Given the description of an element on the screen output the (x, y) to click on. 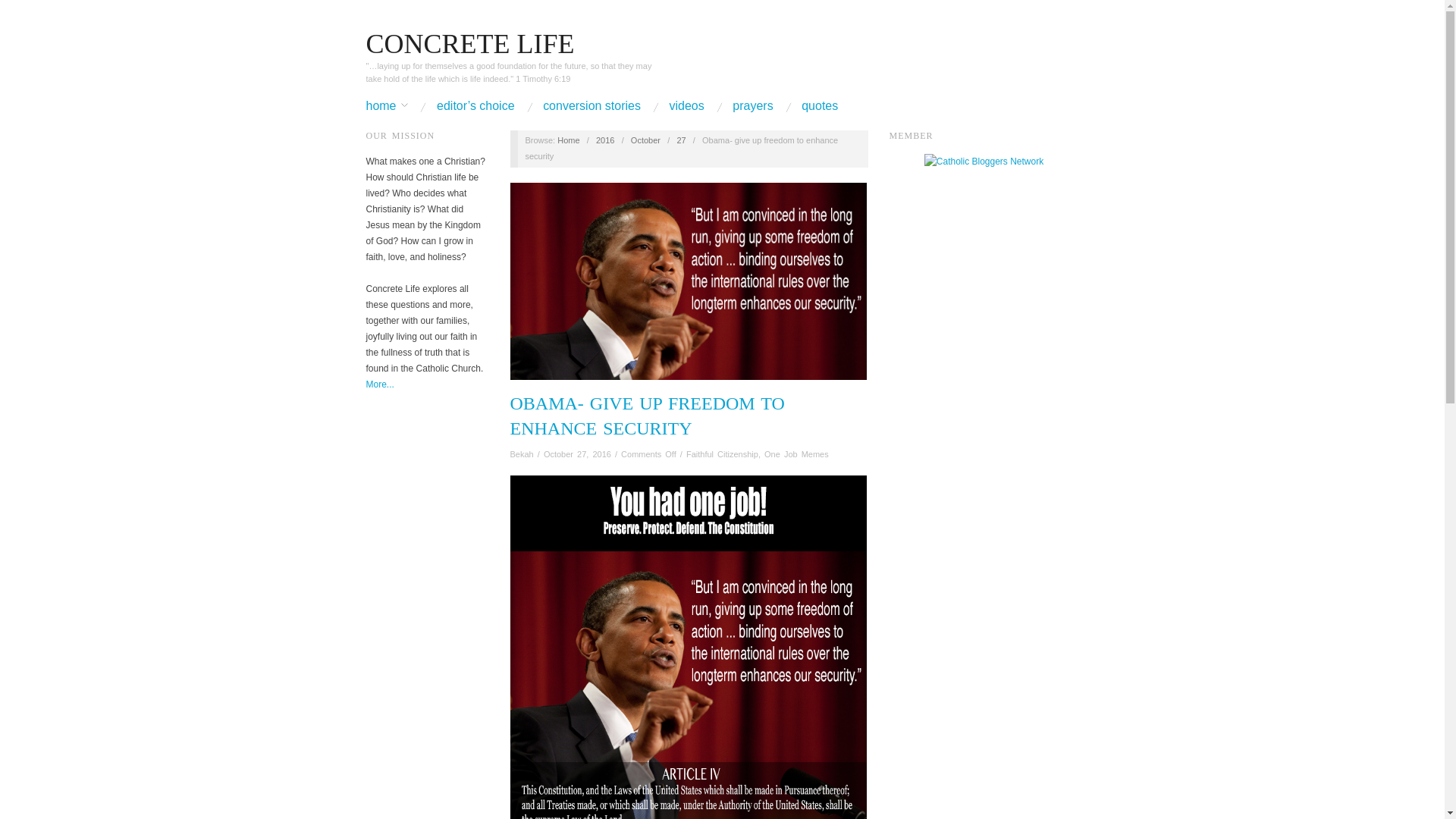
October 27, 2016 (681, 139)
Concrete Life (469, 43)
October 27, 2016 (577, 453)
Faithful Citizenship (721, 453)
October (645, 139)
prayers (752, 105)
Concrete Life (568, 139)
27 (681, 139)
Obama- give up freedom to enhance security (647, 415)
quotes (820, 105)
Bekah (522, 453)
OBAMA- GIVE UP FREEDOM TO ENHANCE SECURITY (647, 415)
videos (686, 105)
Home (568, 139)
2016 (604, 139)
